Given the description of an element on the screen output the (x, y) to click on. 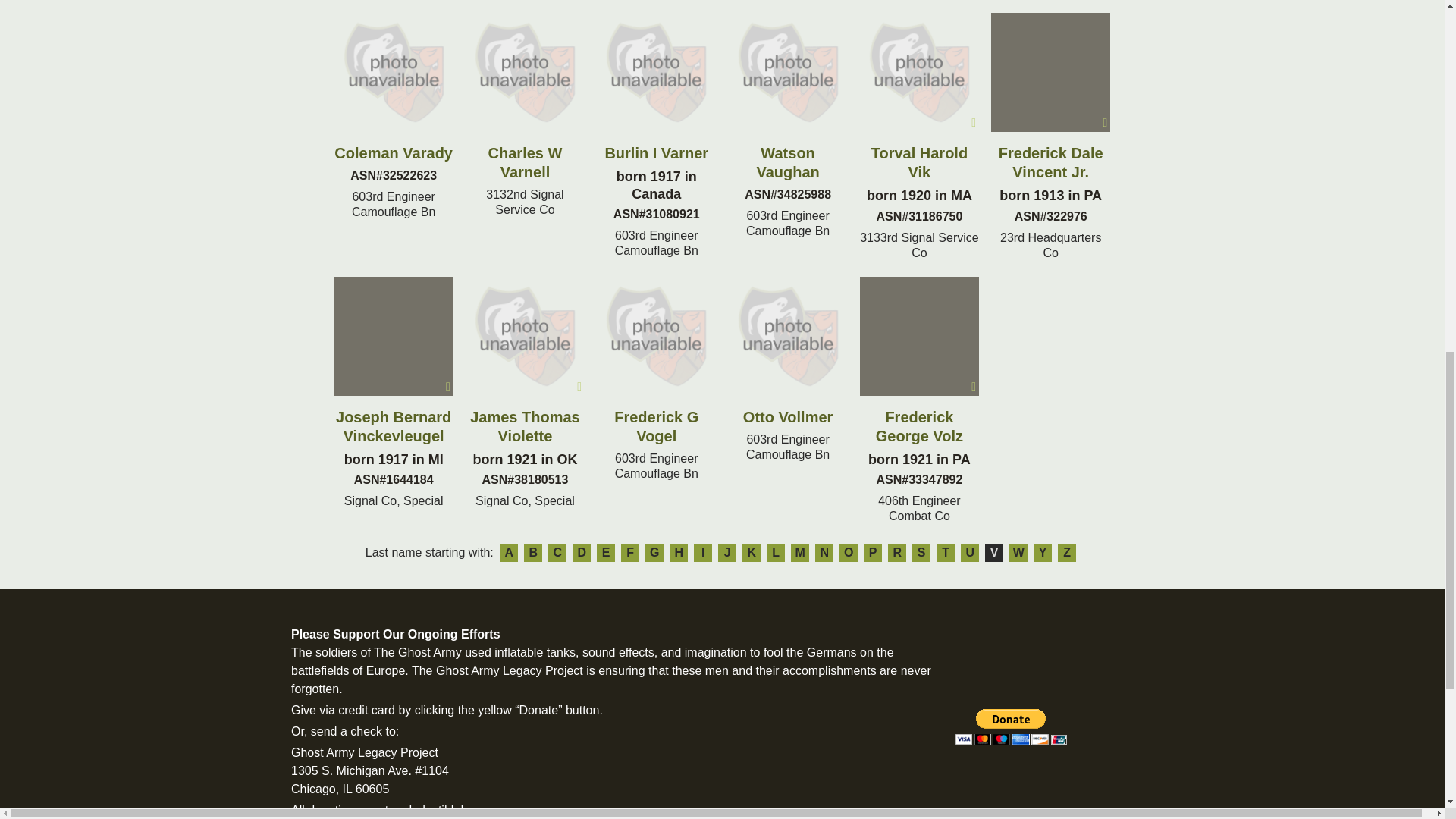
PayPal - The safer, easier way to pay online! (1011, 726)
